Given the description of an element on the screen output the (x, y) to click on. 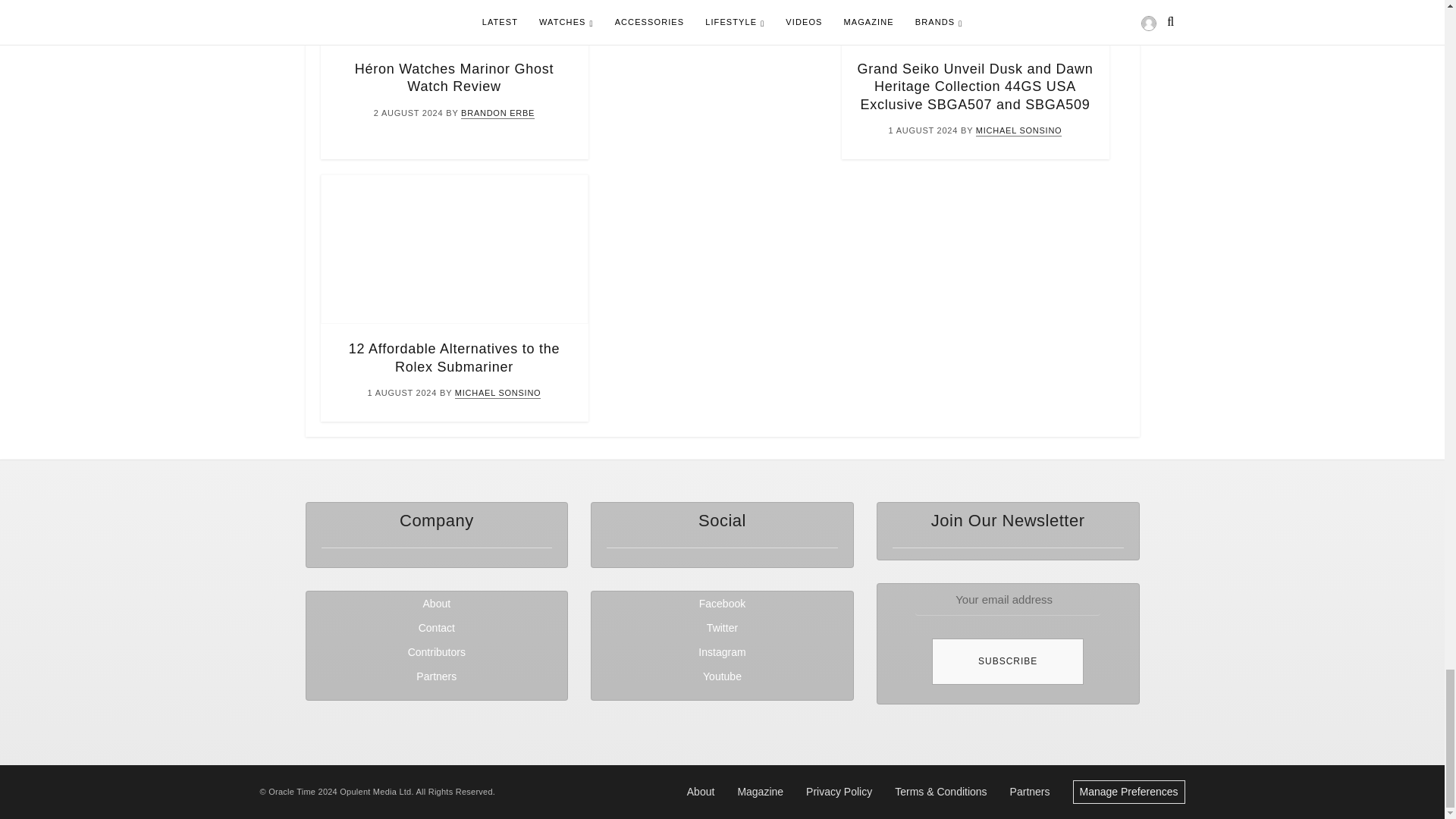
12 Affordable Alternatives to the Rolex Submariner (453, 357)
Subscribe (1007, 661)
